Given the description of an element on the screen output the (x, y) to click on. 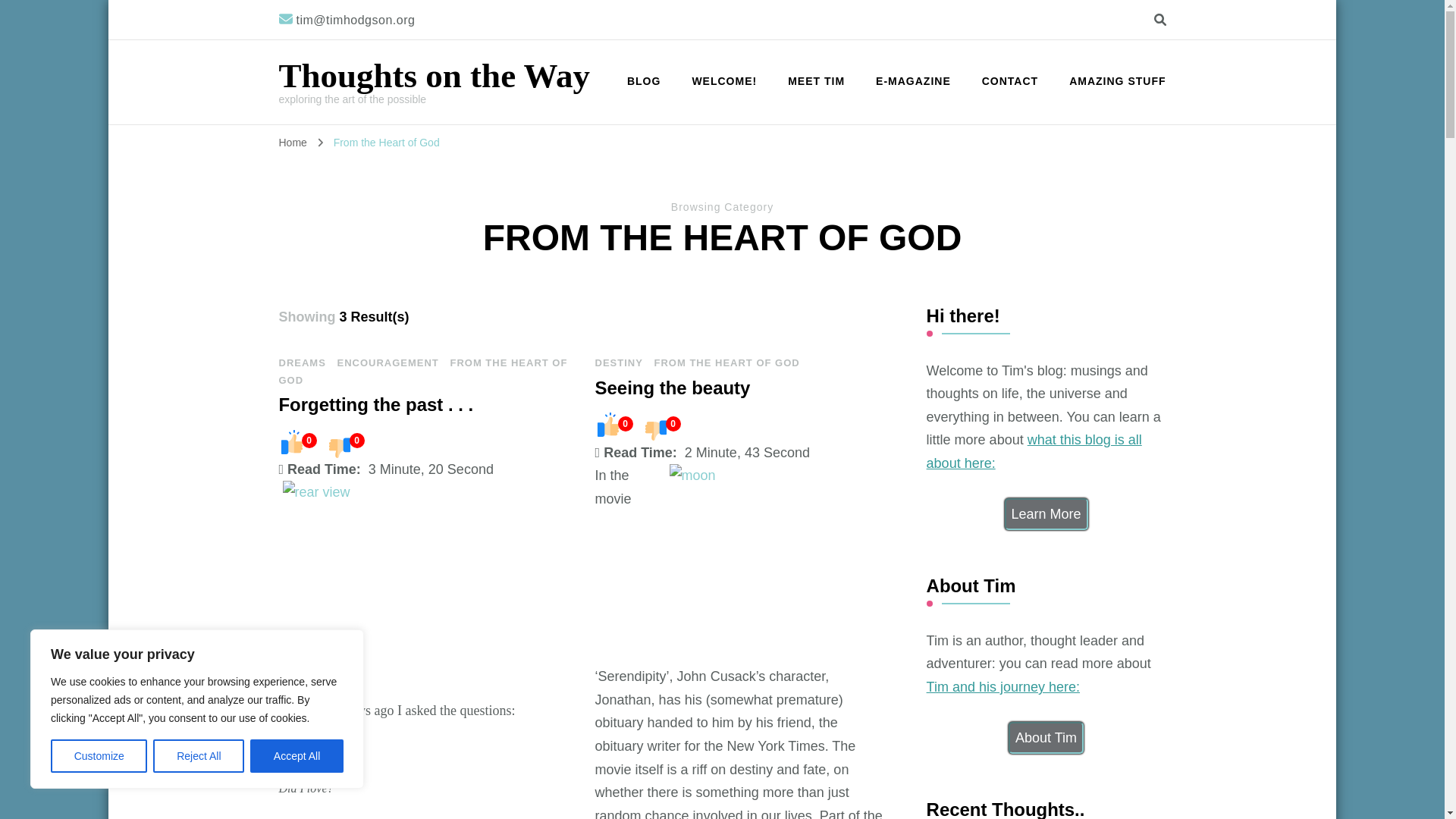
Who is this Tim  chap? (1046, 737)
Home (293, 142)
MEET TIM (816, 81)
WELCOME! (724, 81)
DREAMS (302, 362)
What's this about  	then? (1045, 513)
ENCOURAGEMENT (387, 362)
Forgetting the past . . . (376, 404)
From the Heart of God (386, 142)
AMAZING STUFF (1110, 81)
Accept All (296, 756)
CONTACT (1009, 81)
moon (778, 564)
rear view (427, 589)
E-MAGAZINE (912, 81)
